Given the description of an element on the screen output the (x, y) to click on. 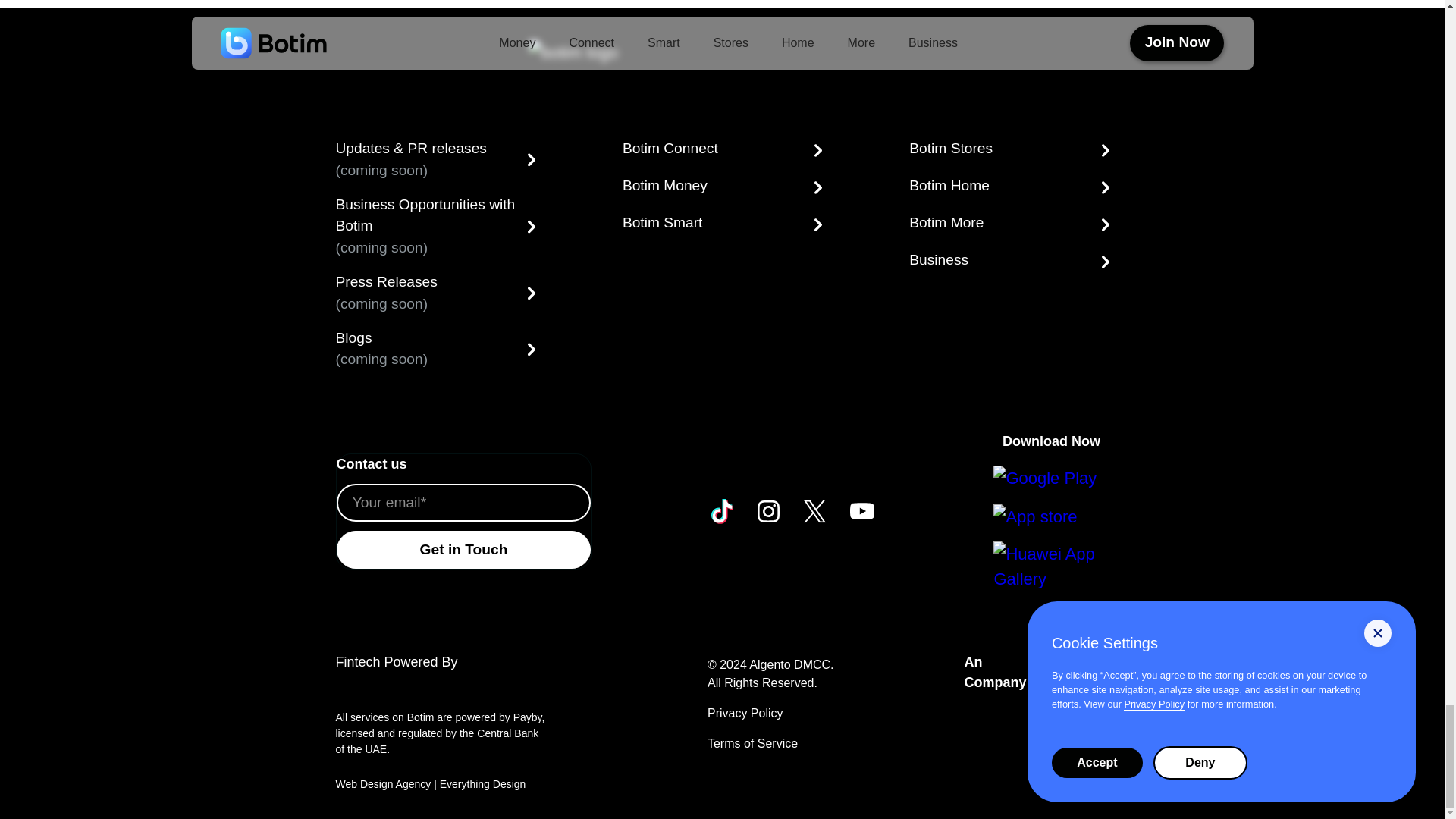
Botim Smart (722, 224)
Privacy Policy (745, 713)
Get in Touch (463, 549)
Botim Connect (722, 150)
Botim Money (722, 187)
Get in Touch (463, 549)
Terms of Service (752, 743)
Botim More (1008, 224)
Business (1008, 261)
Botim Stores (1008, 150)
